Given the description of an element on the screen output the (x, y) to click on. 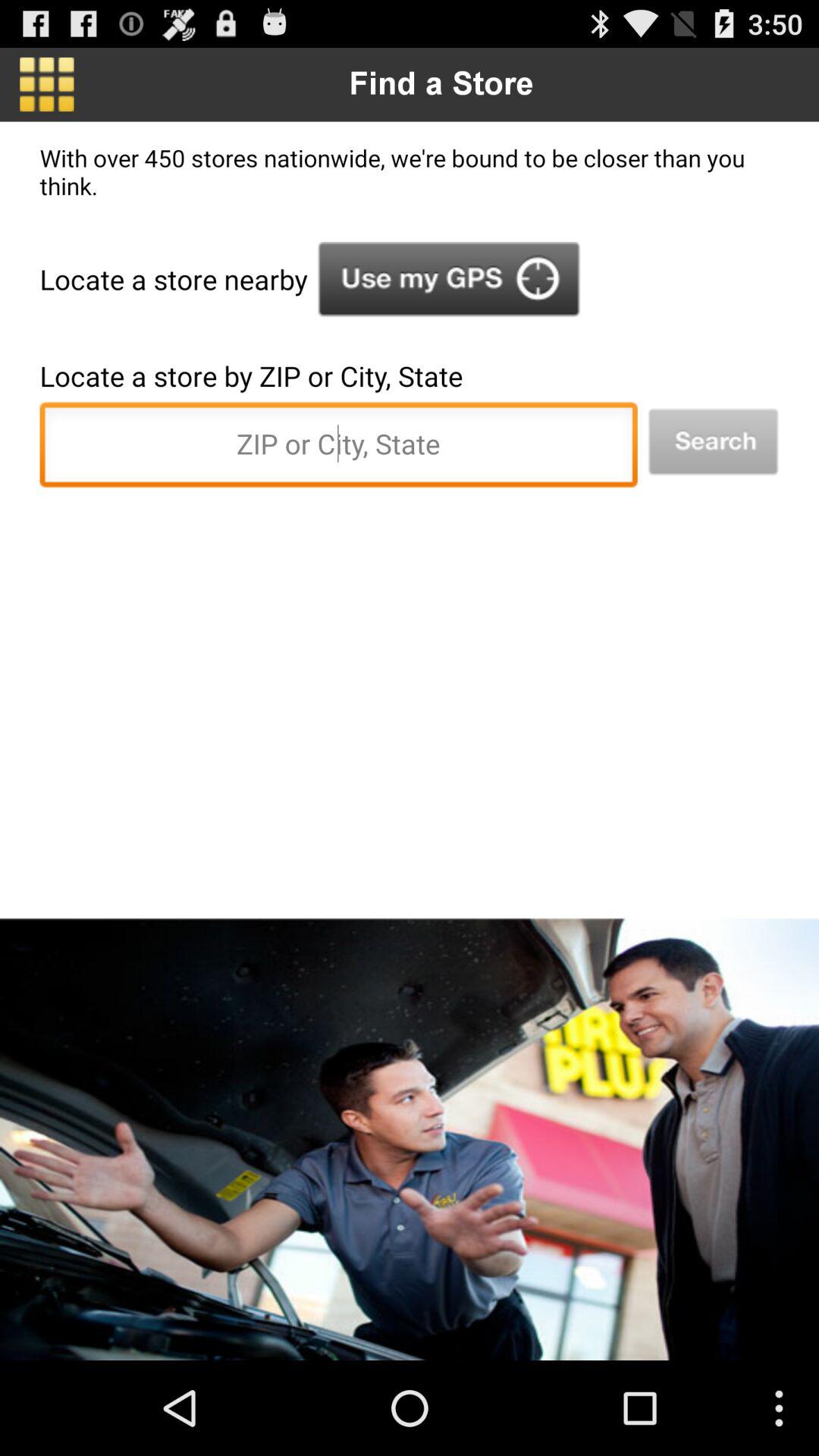
menu (46, 84)
